Given the description of an element on the screen output the (x, y) to click on. 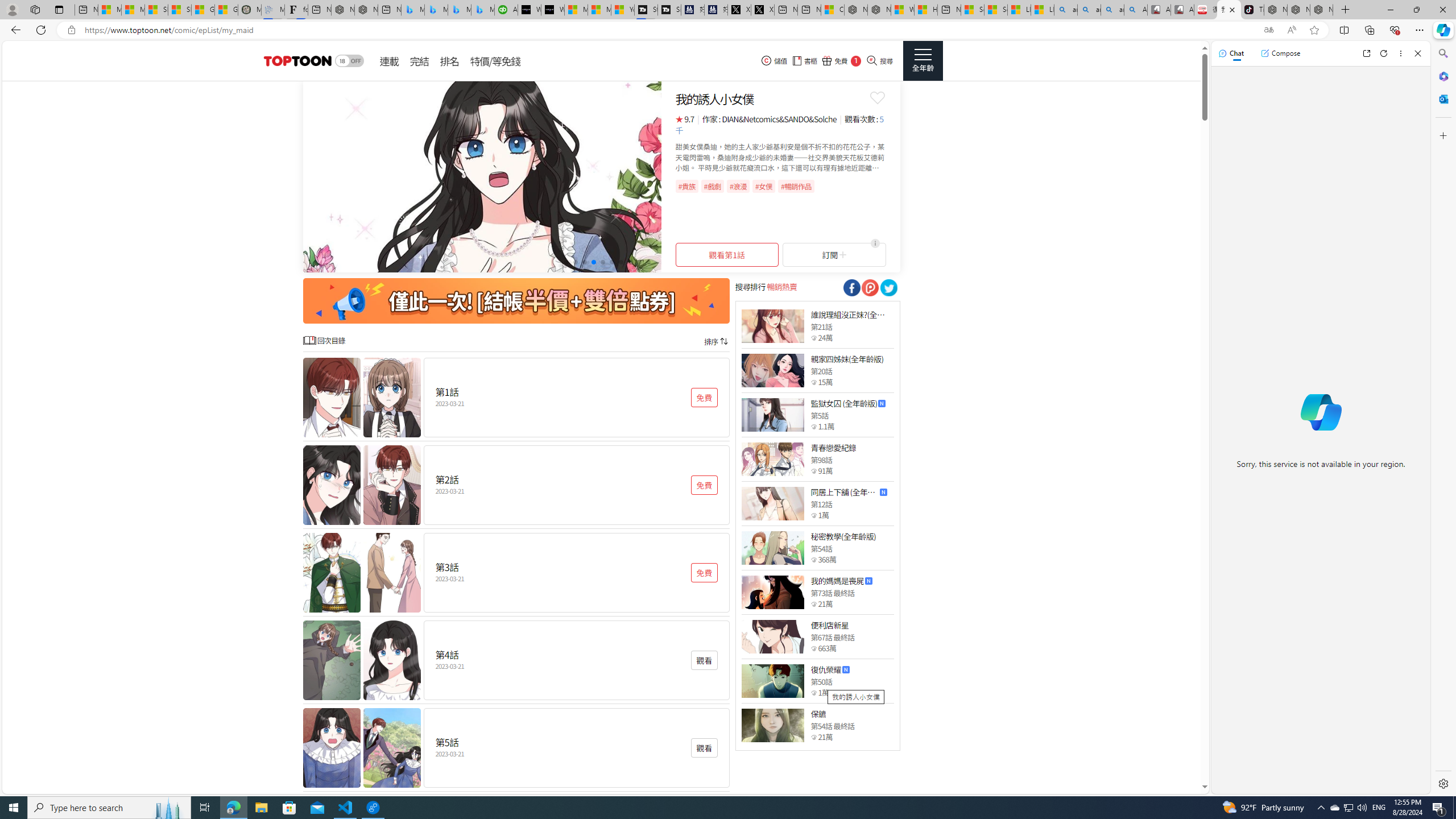
Chat (1231, 52)
Go to slide 1 (566, 261)
Shanghai, China weather forecast | Microsoft Weather (179, 9)
Class: socialShare (887, 287)
Class:  switch_18mode actionAdultBtn (349, 60)
Huge shark washes ashore at New York City beach | Watch (926, 9)
